Given the description of an element on the screen output the (x, y) to click on. 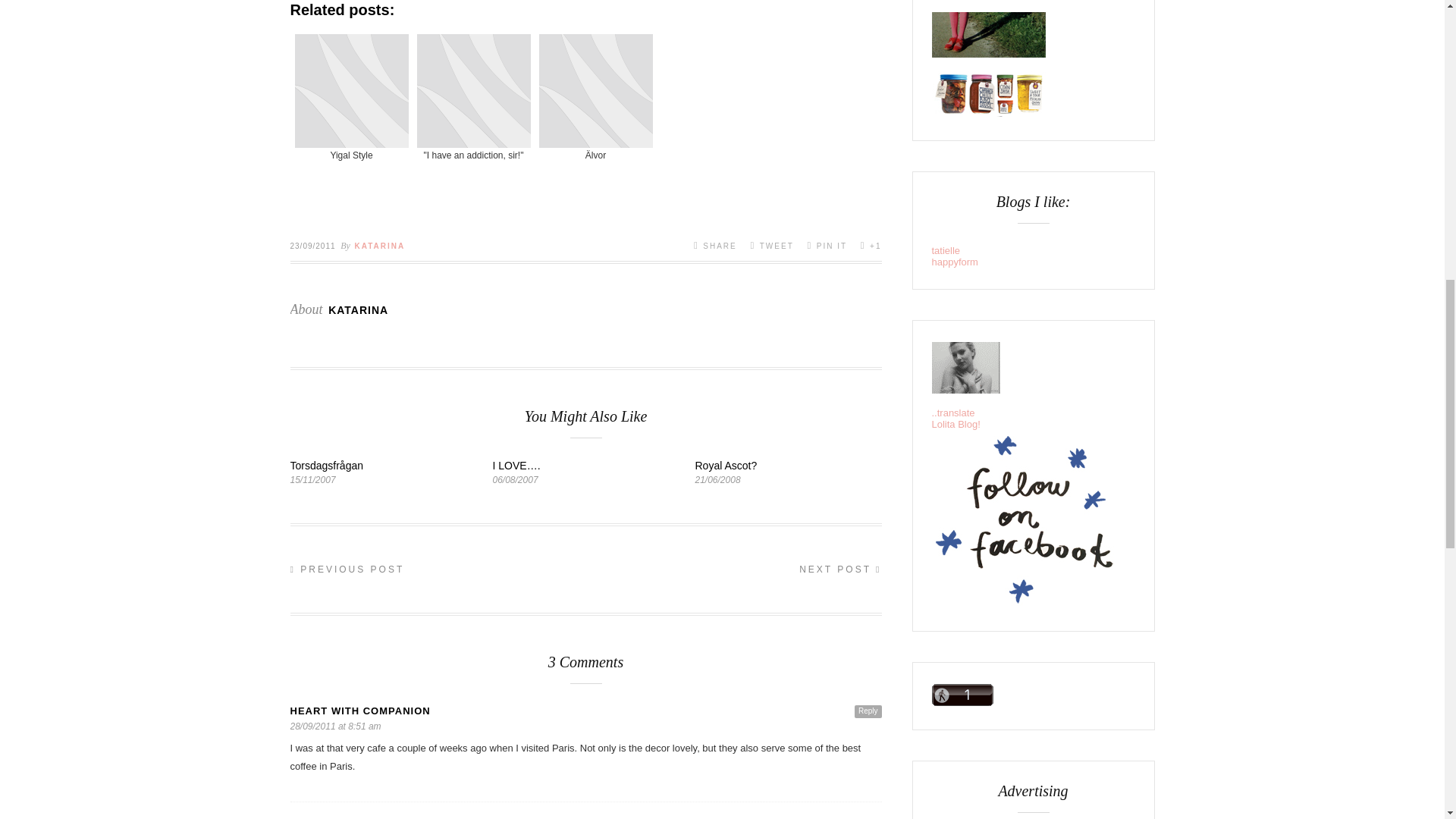
TWEET (771, 244)
Posts by Katarina (358, 309)
PIN IT (826, 244)
Royal Ascot? (725, 465)
KATARINA (378, 245)
Click to see what's popular on this site! (961, 694)
SHARE (715, 244)
KATARINA (358, 309)
PREVIOUS POST (346, 569)
Posts by Katarina (378, 245)
